Given the description of an element on the screen output the (x, y) to click on. 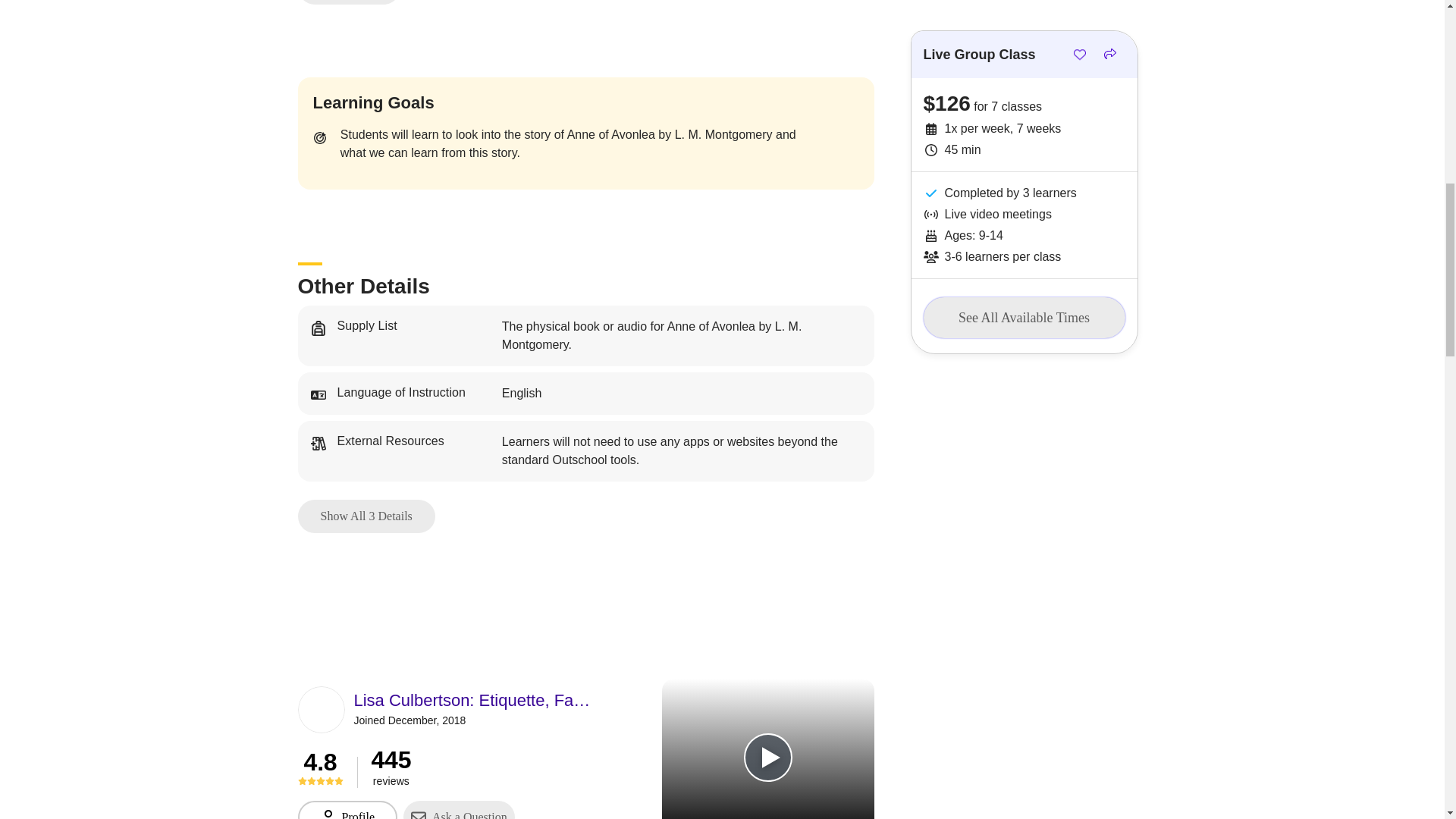
Show More (347, 2)
Lisa Culbertson: Etiquette, Fashion, Italian (472, 700)
Profile (347, 809)
Show All 3 Details (365, 516)
Ask a Question (459, 809)
